Given the description of an element on the screen output the (x, y) to click on. 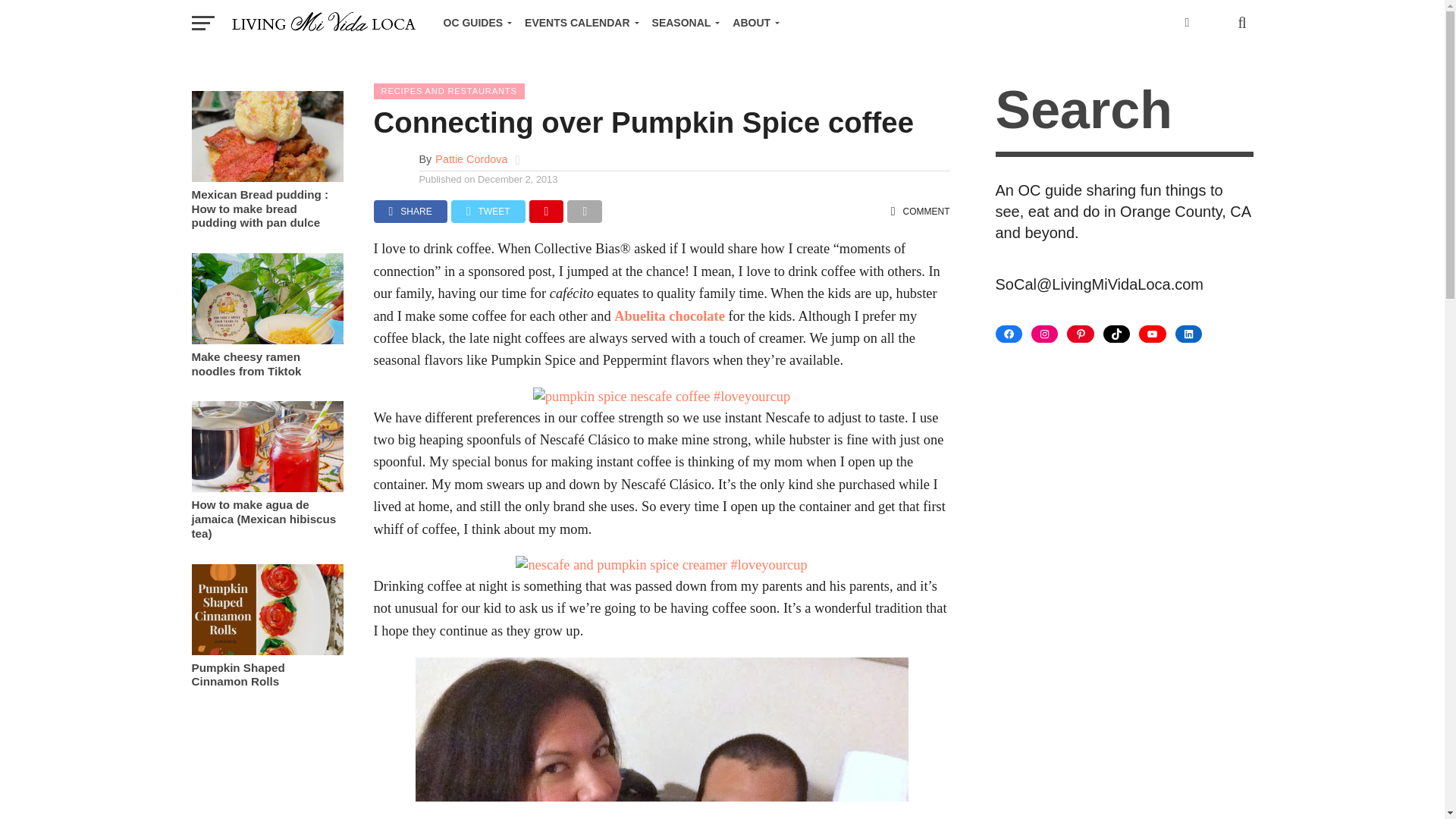
Make cheesy ramen noodles from Tiktok (266, 339)
Search (1123, 112)
SEASONAL (683, 22)
Posts by Pattie Cordova (470, 159)
EVENTS CALENDAR (578, 22)
Pumpkin Shaped Cinnamon Rolls (266, 650)
OC GUIDES (474, 22)
